Given the description of an element on the screen output the (x, y) to click on. 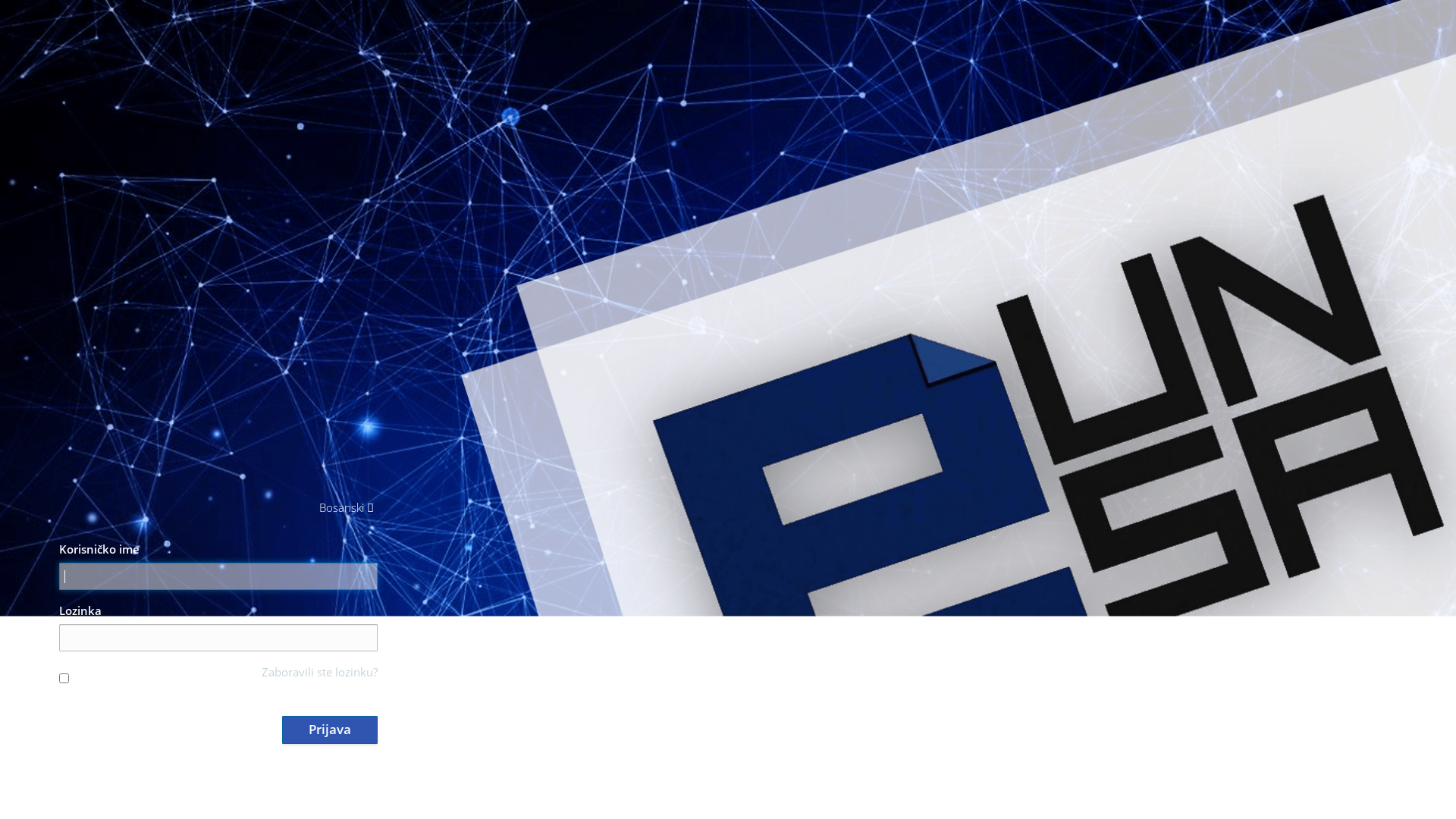
Zaboravili ste lozinku? Element type: text (319, 671)
Bosanski Element type: text (346, 507)
Prijava Element type: text (329, 729)
